Given the description of an element on the screen output the (x, y) to click on. 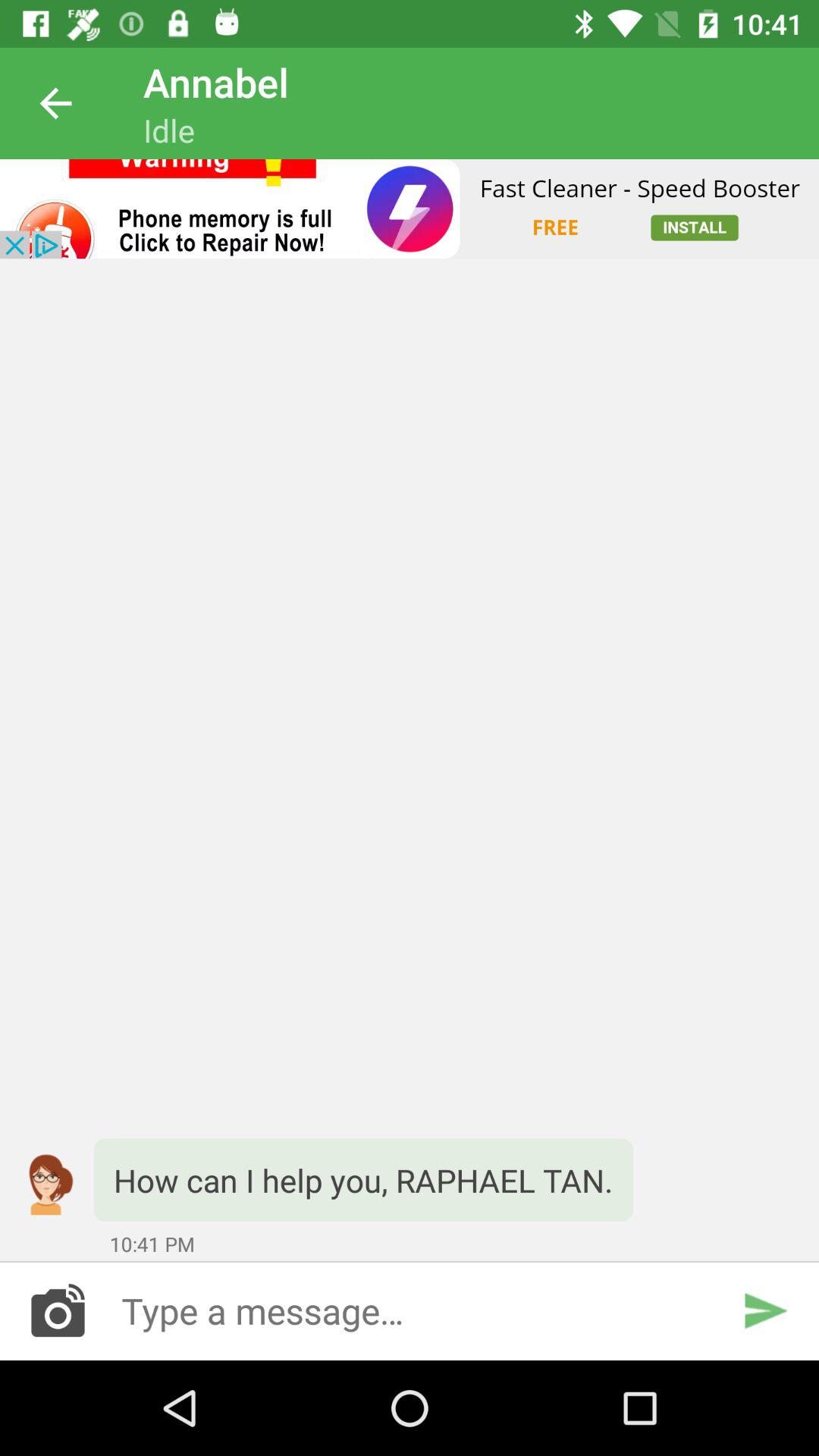
send a message (409, 1310)
